Given the description of an element on the screen output the (x, y) to click on. 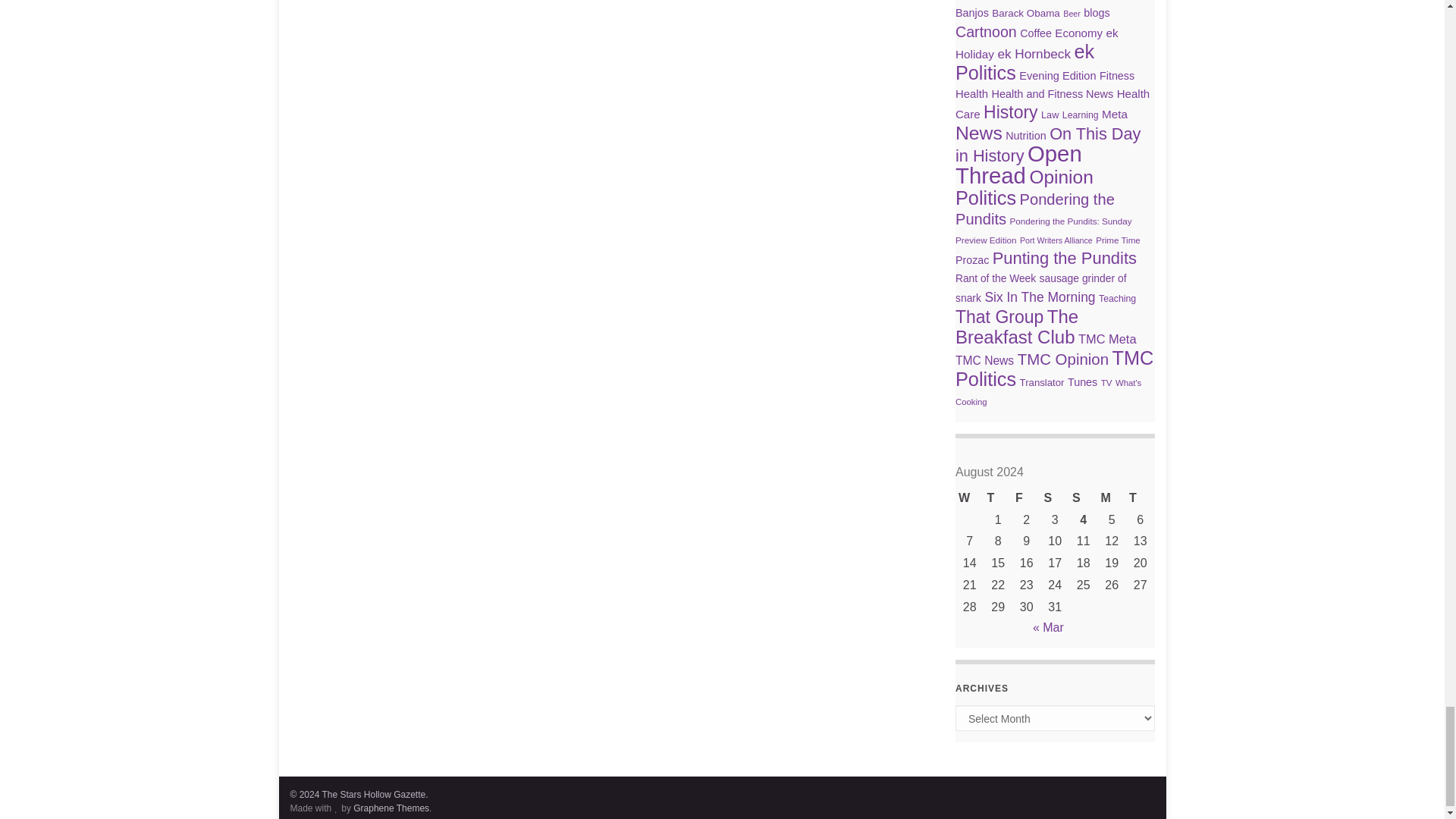
Saturday (1054, 498)
Sunday (1082, 498)
Thursday (998, 498)
Tuesday (1139, 498)
Wednesday (969, 498)
Friday (1026, 498)
Monday (1111, 498)
